Given the description of an element on the screen output the (x, y) to click on. 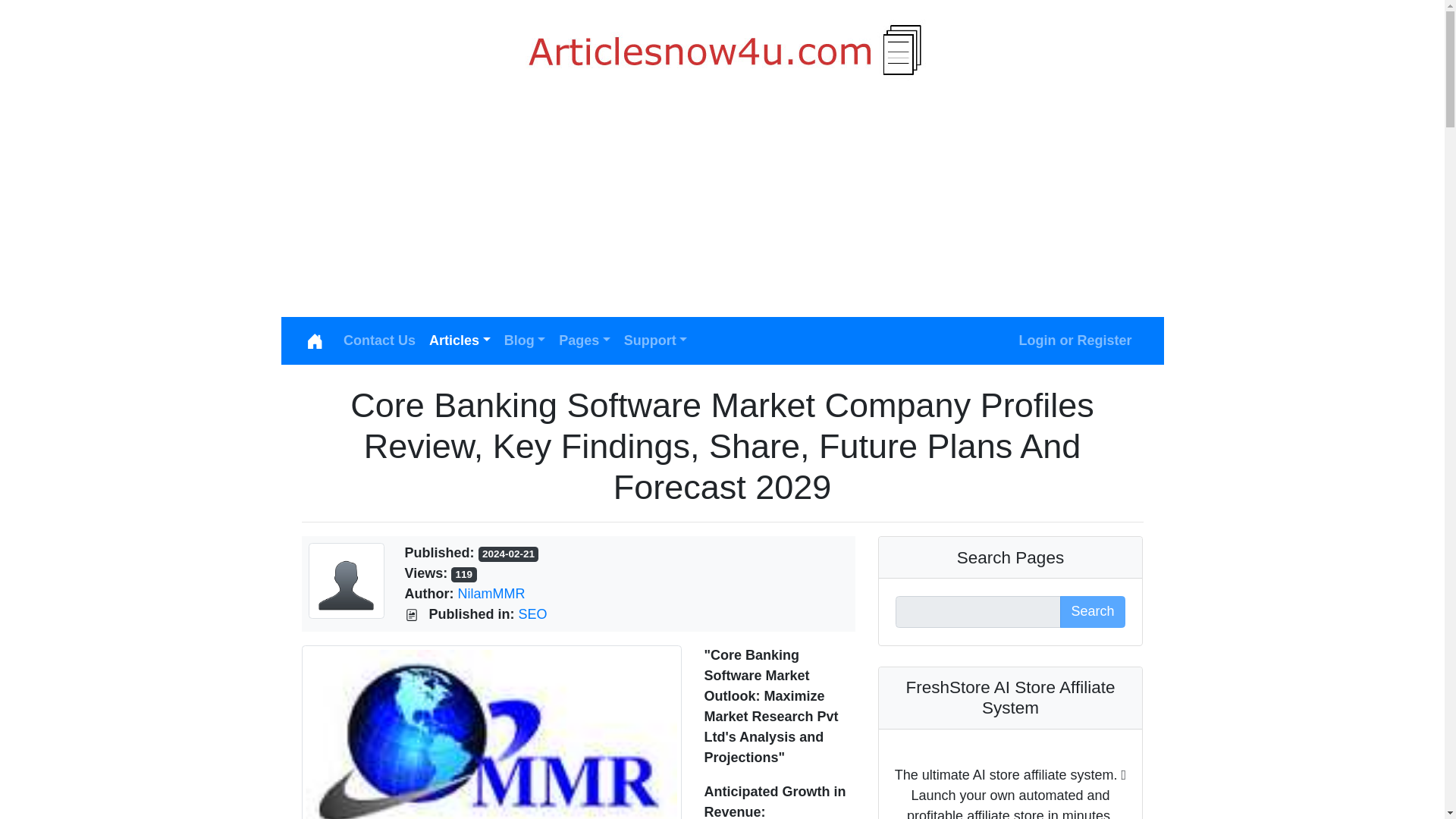
Support (655, 340)
Contact Us (379, 340)
Pages (584, 340)
Articles (459, 340)
NilamMMR (490, 593)
Login or Register (1074, 340)
Blog (525, 340)
Articlesnow4u.com (722, 51)
